Given the description of an element on the screen output the (x, y) to click on. 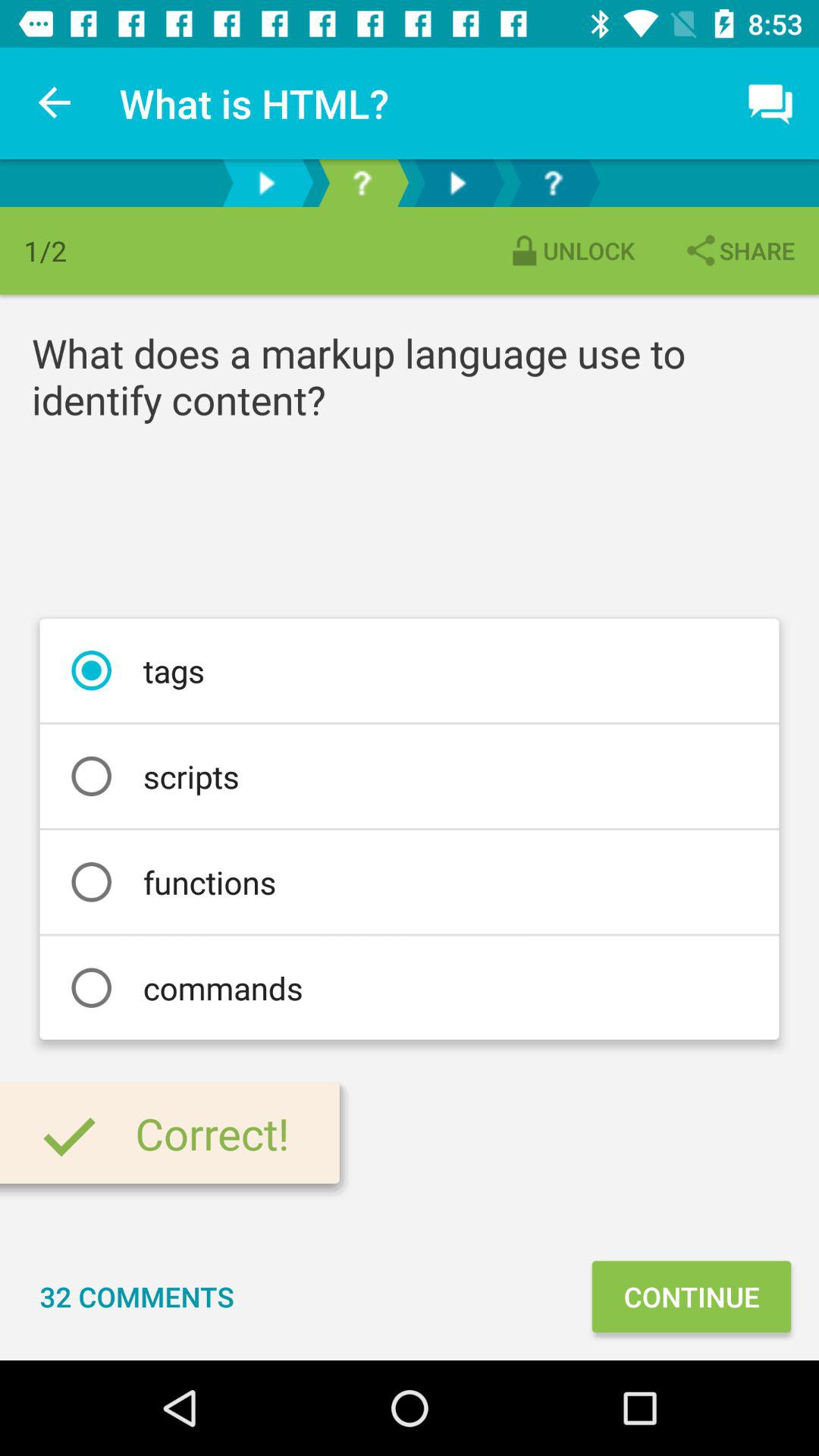
turn off continue item (691, 1296)
